Given the description of an element on the screen output the (x, y) to click on. 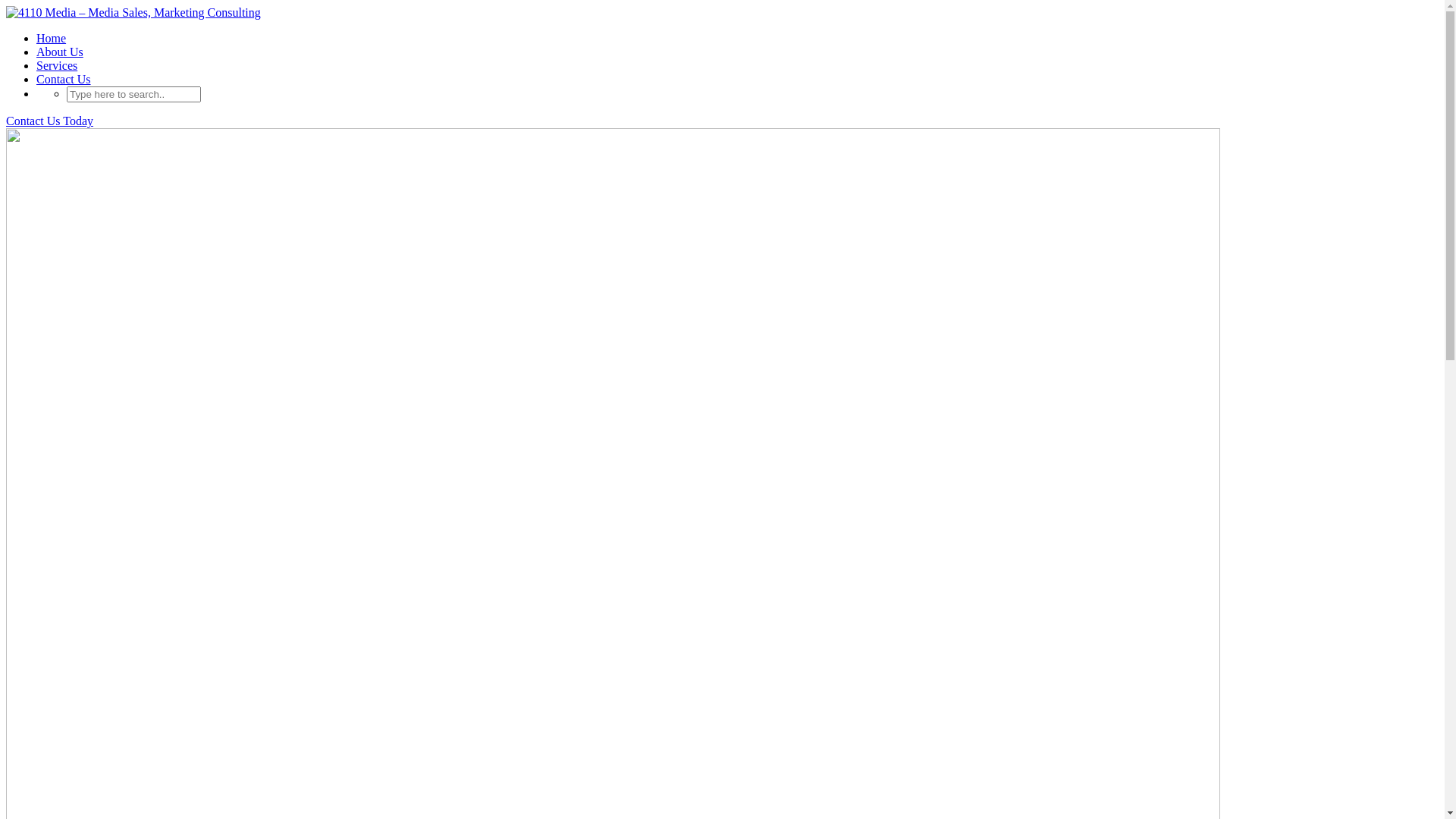
Home Element type: text (50, 37)
Contact Us Today Element type: text (49, 120)
Services Element type: text (56, 65)
Contact Us Element type: text (63, 78)
About Us Element type: text (59, 51)
